Given the description of an element on the screen output the (x, y) to click on. 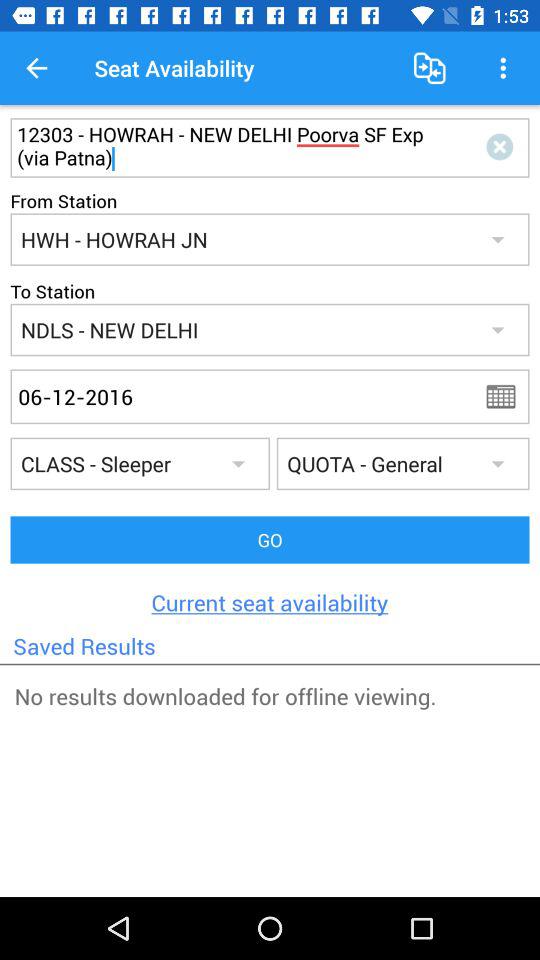
select travel date (507, 396)
